Given the description of an element on the screen output the (x, y) to click on. 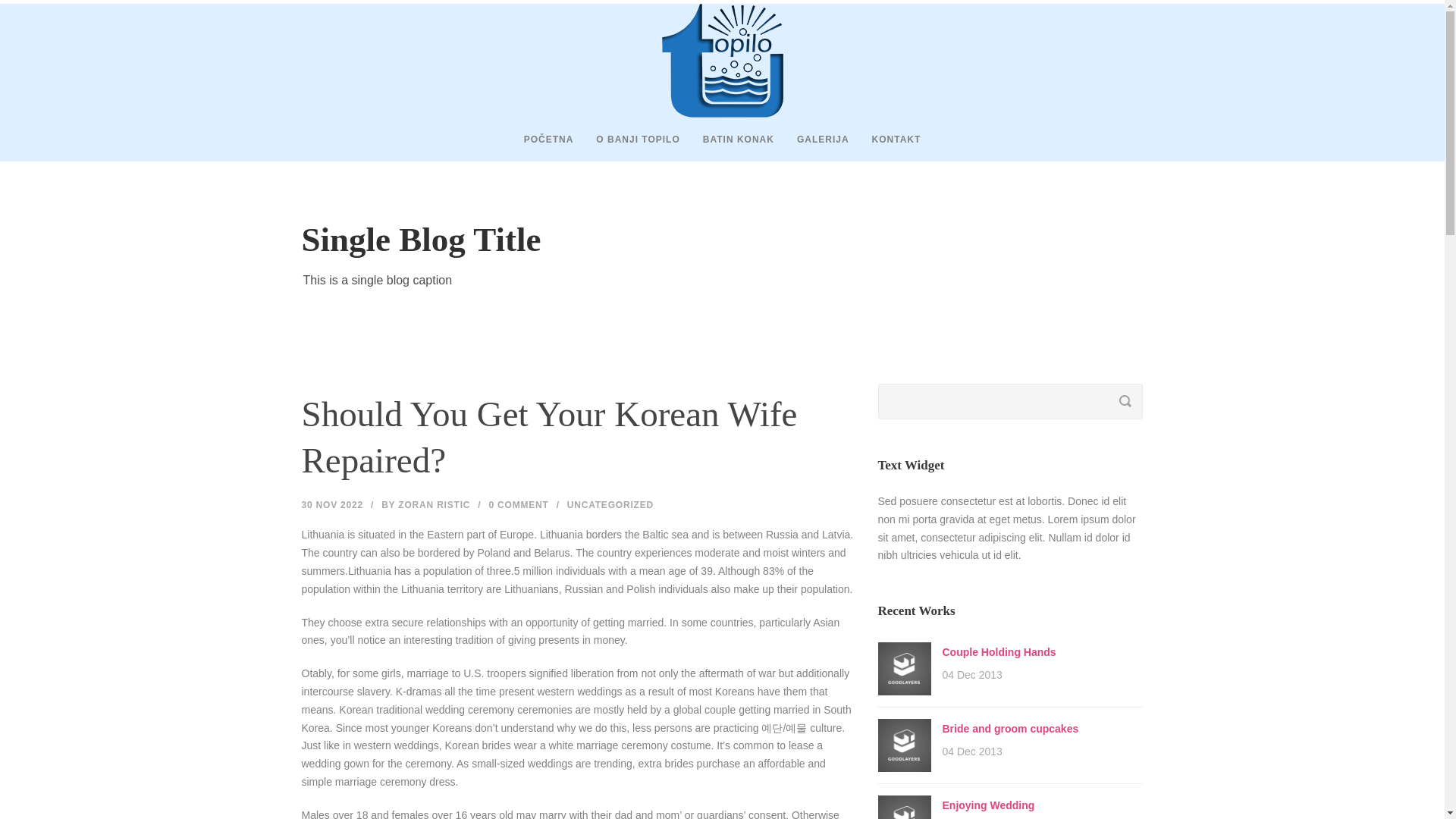
0 COMMENT (517, 504)
UNCATEGORIZED (610, 504)
BATIN KONAK (726, 146)
GALERIJA (811, 146)
ZORAN RISTIC (433, 504)
O BANJI TOPILO (626, 146)
KONTAKT (884, 146)
Posts by Zoran Ristic (433, 504)
30 NOV 2022 (332, 504)
